Given the description of an element on the screen output the (x, y) to click on. 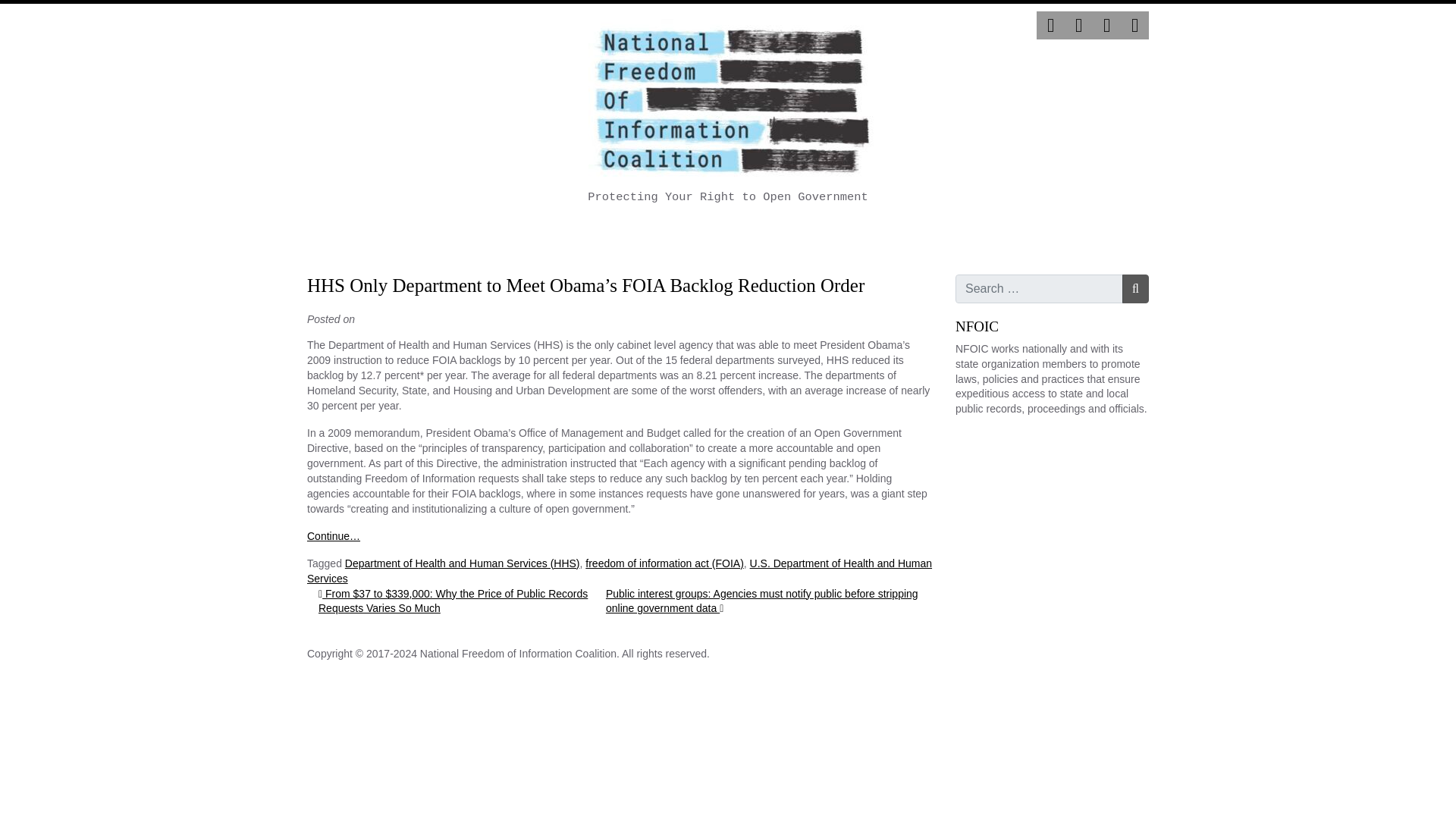
Find Your State (597, 235)
Twitter (1050, 25)
YouTube (1134, 25)
Get Involved (968, 235)
Research (697, 235)
About NFOIC (489, 235)
News (889, 235)
FOI Policy Topics (798, 235)
About NFOIC (489, 235)
Instagram (1107, 25)
